Given the description of an element on the screen output the (x, y) to click on. 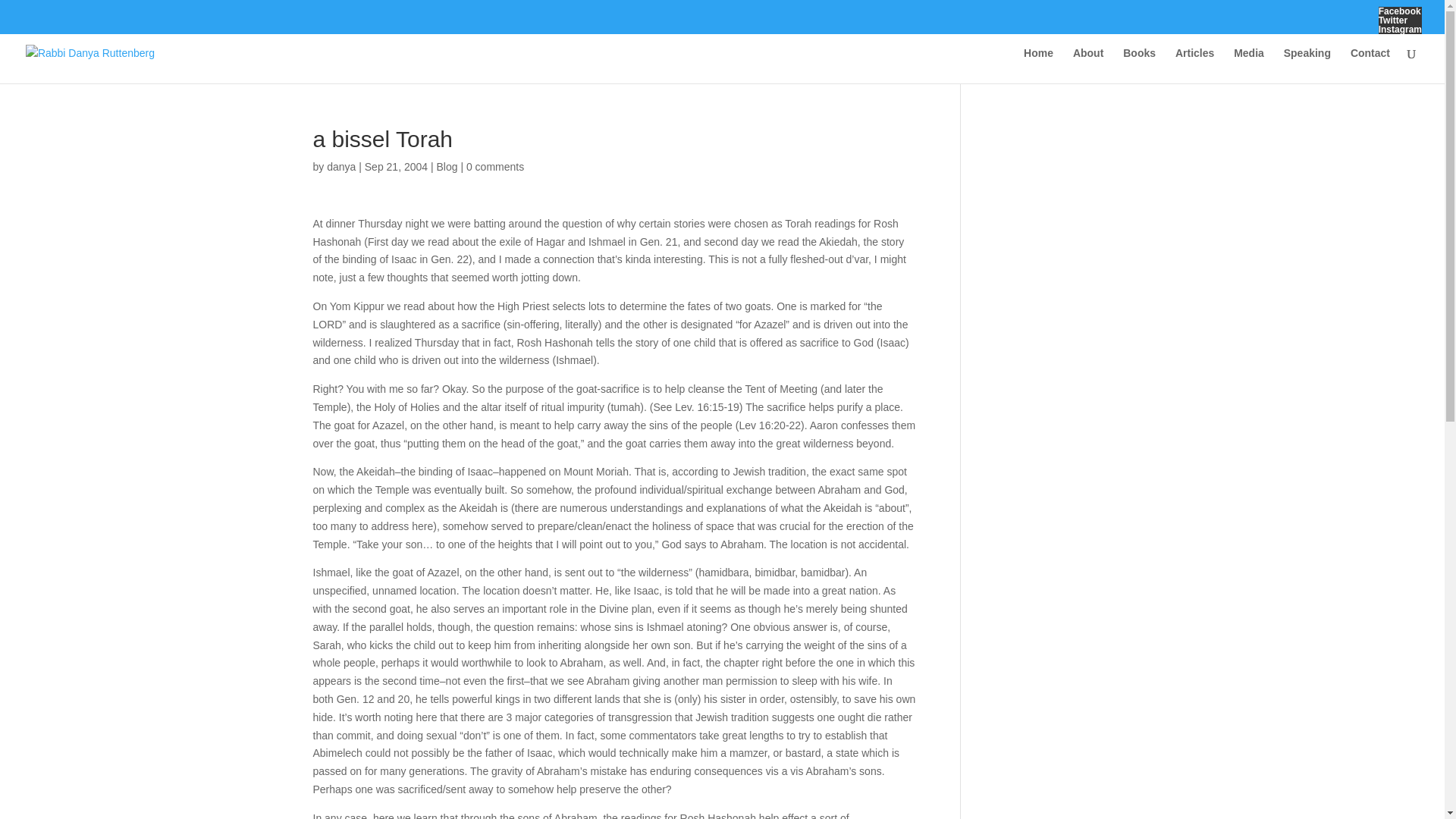
Twitter (1400, 20)
danya (340, 166)
0 comments (494, 166)
Posts by danya (340, 166)
Blog (446, 166)
Instagram (1400, 29)
Facebook (1400, 10)
Articles (1194, 65)
Contact (1370, 65)
Speaking (1307, 65)
